Given the description of an element on the screen output the (x, y) to click on. 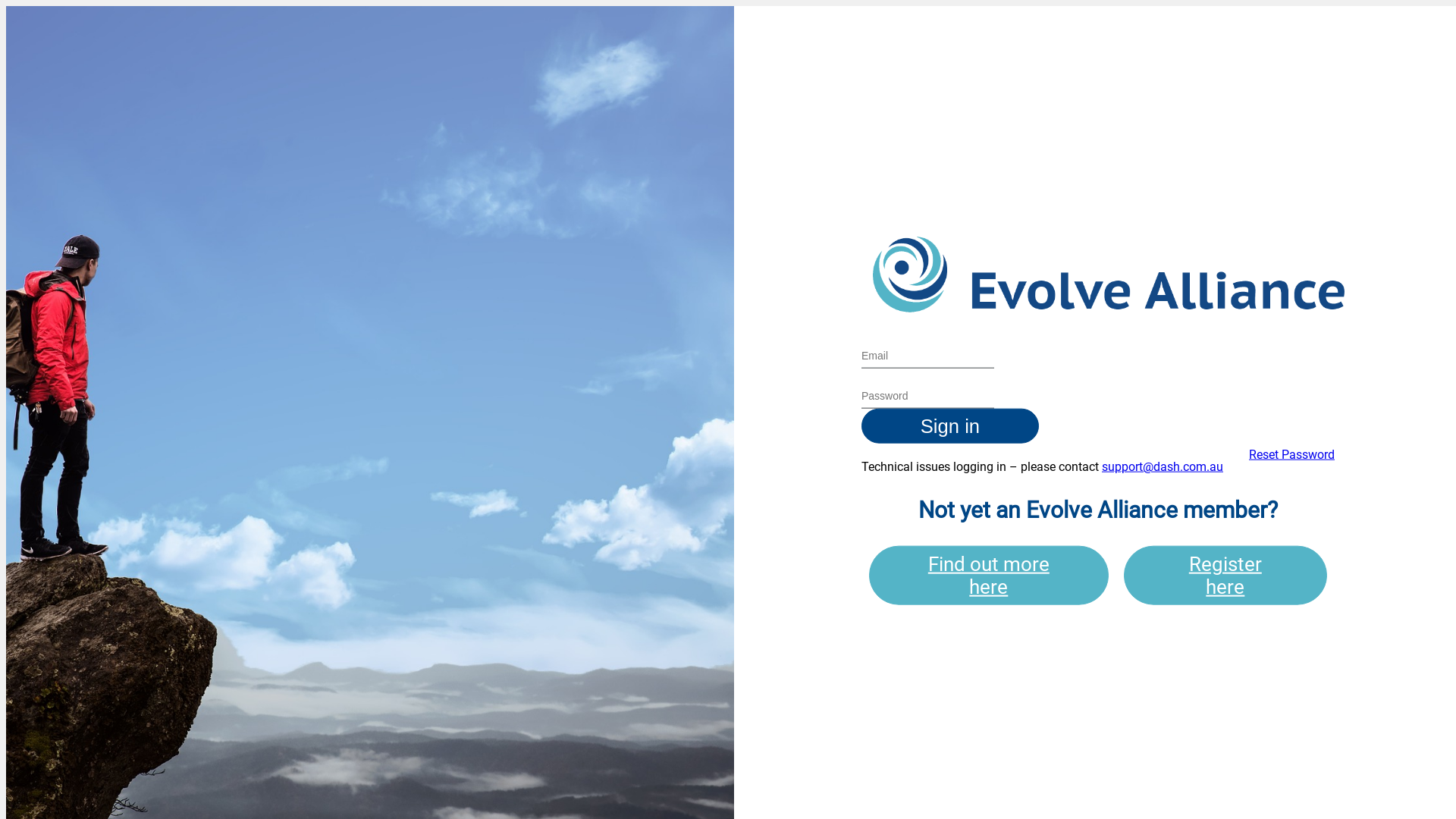
support@dash.com.au Element type: text (1162, 466)
Find out more here Element type: text (988, 575)
Register here Element type: text (1225, 575)
Sign in Element type: text (949, 425)
Reset Password Element type: text (1291, 454)
